Given the description of an element on the screen output the (x, y) to click on. 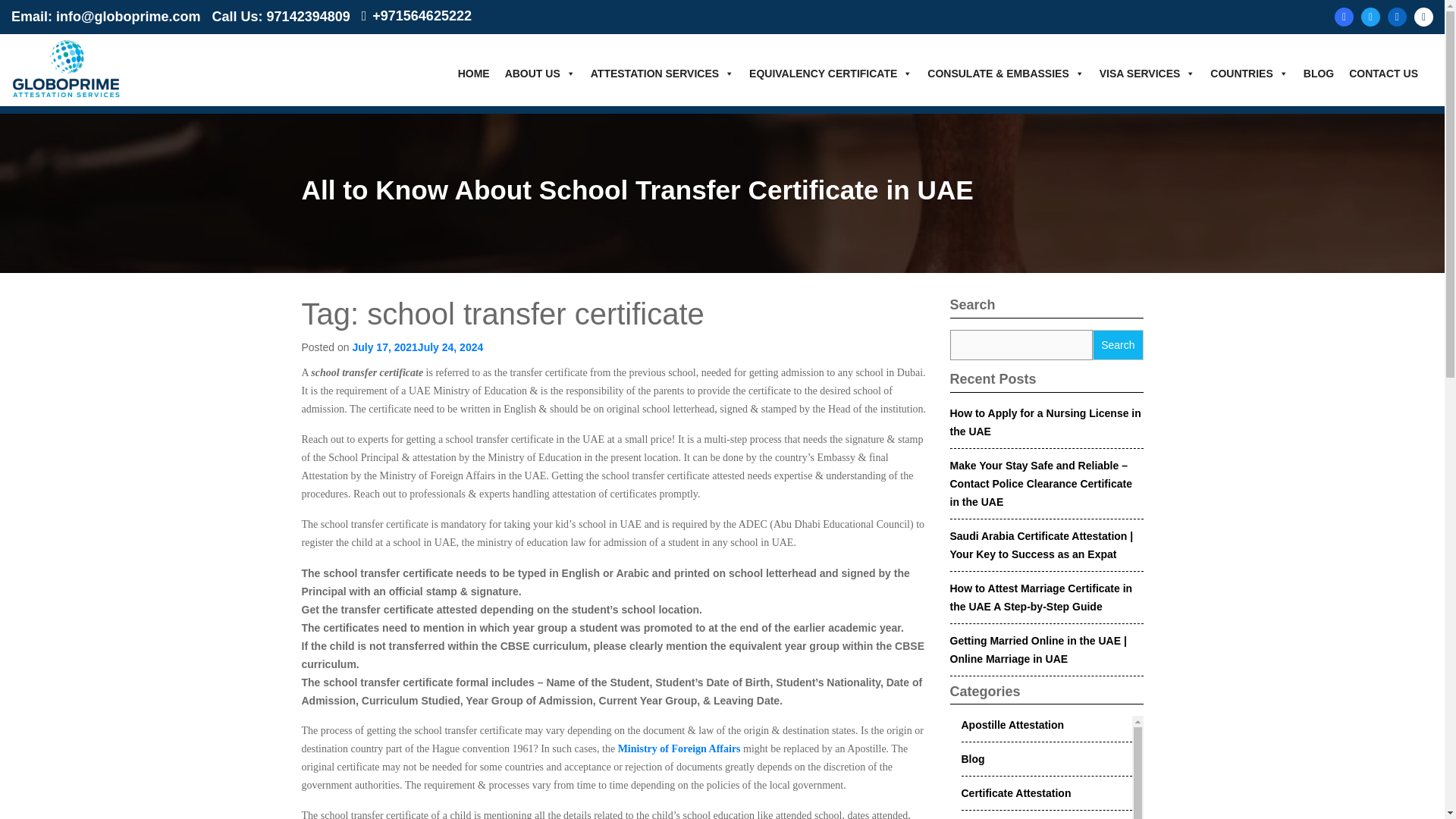
ABOUT US (548, 72)
ATTESTATION SERVICES (670, 72)
HOME (481, 72)
Call Us: 97142394809 (281, 16)
